Given the description of an element on the screen output the (x, y) to click on. 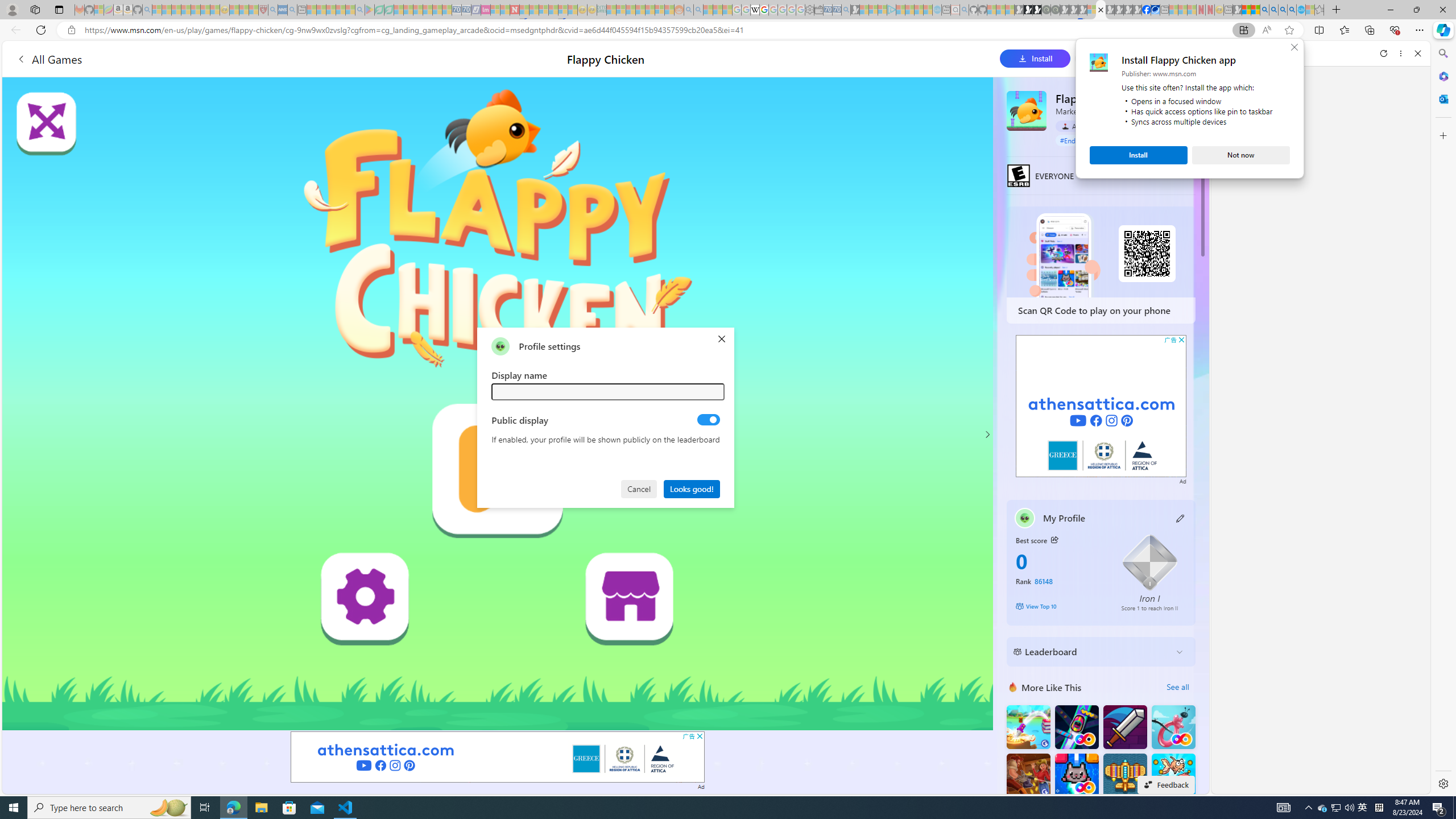
Flappy Chicken (1026, 110)
More Like This (1012, 686)
Play Zoo Boom in your browser | Games from Microsoft Start (1027, 9)
